Given the description of an element on the screen output the (x, y) to click on. 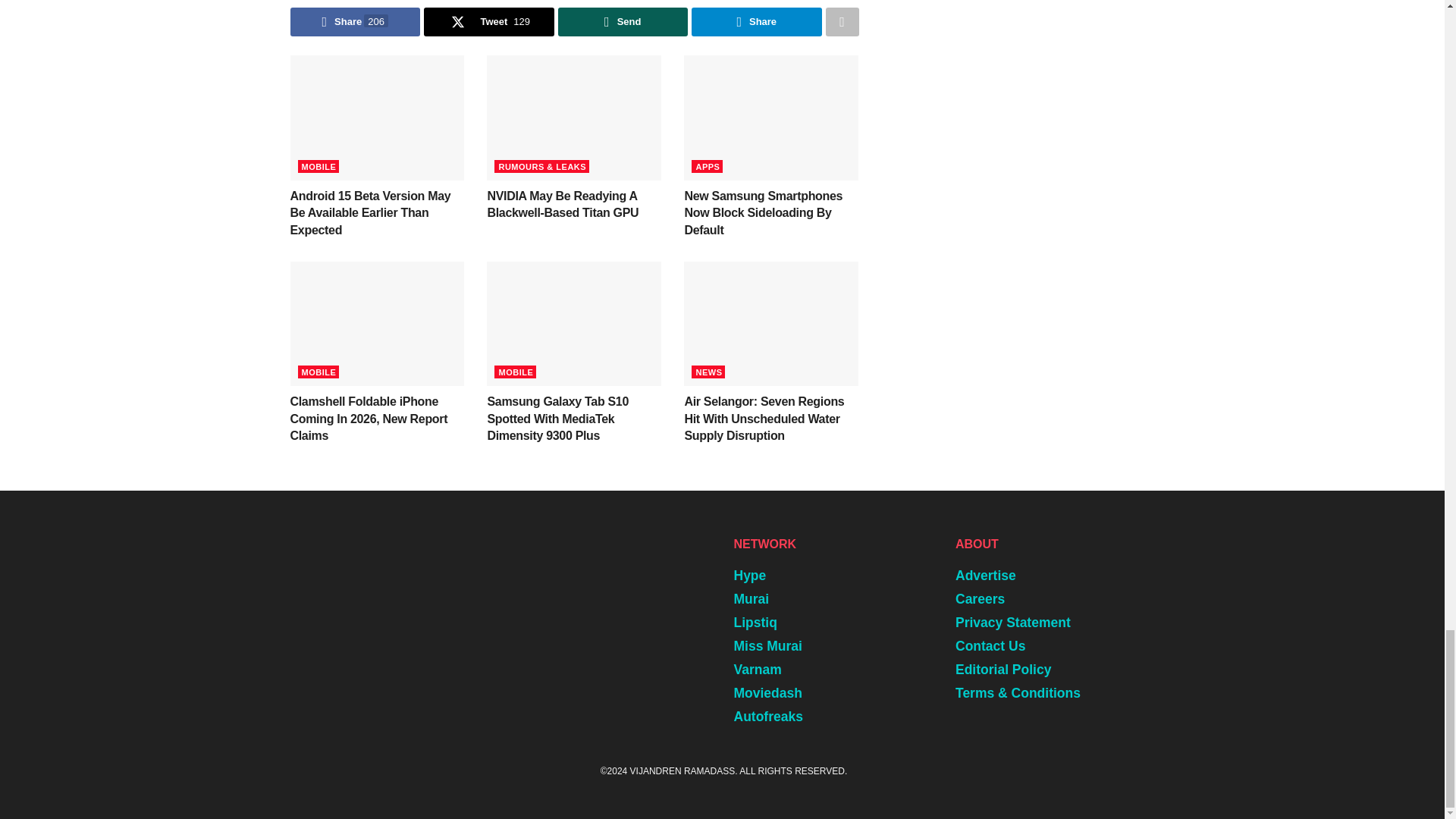
NVIDIA May Be Readying A Blackwell-Based Titan GPU 6 (573, 117)
New Samsung Smartphones Now Block Sideloading By Default 7 (771, 117)
